Given the description of an element on the screen output the (x, y) to click on. 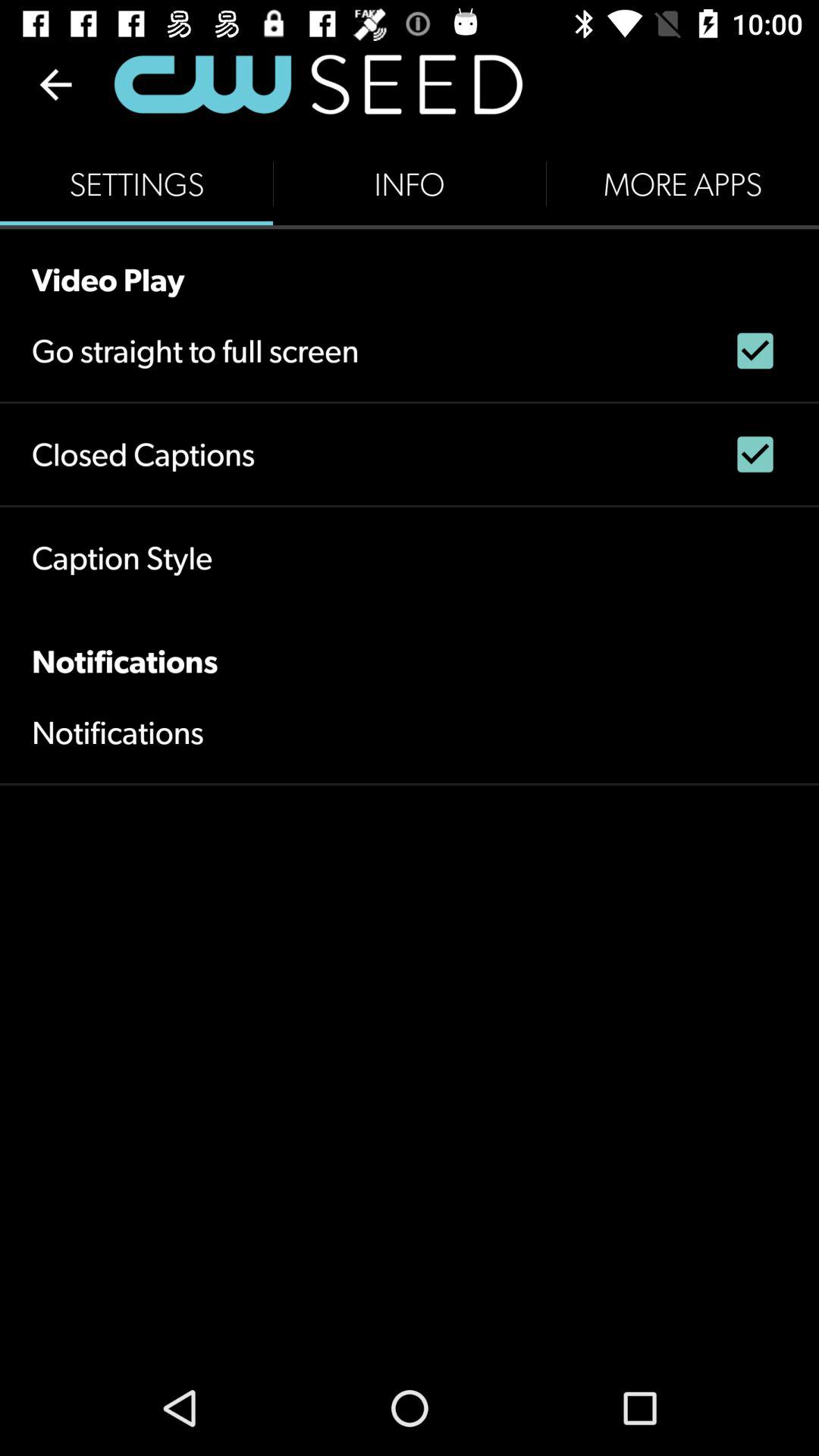
click the icon below settings icon (409, 263)
